Given the description of an element on the screen output the (x, y) to click on. 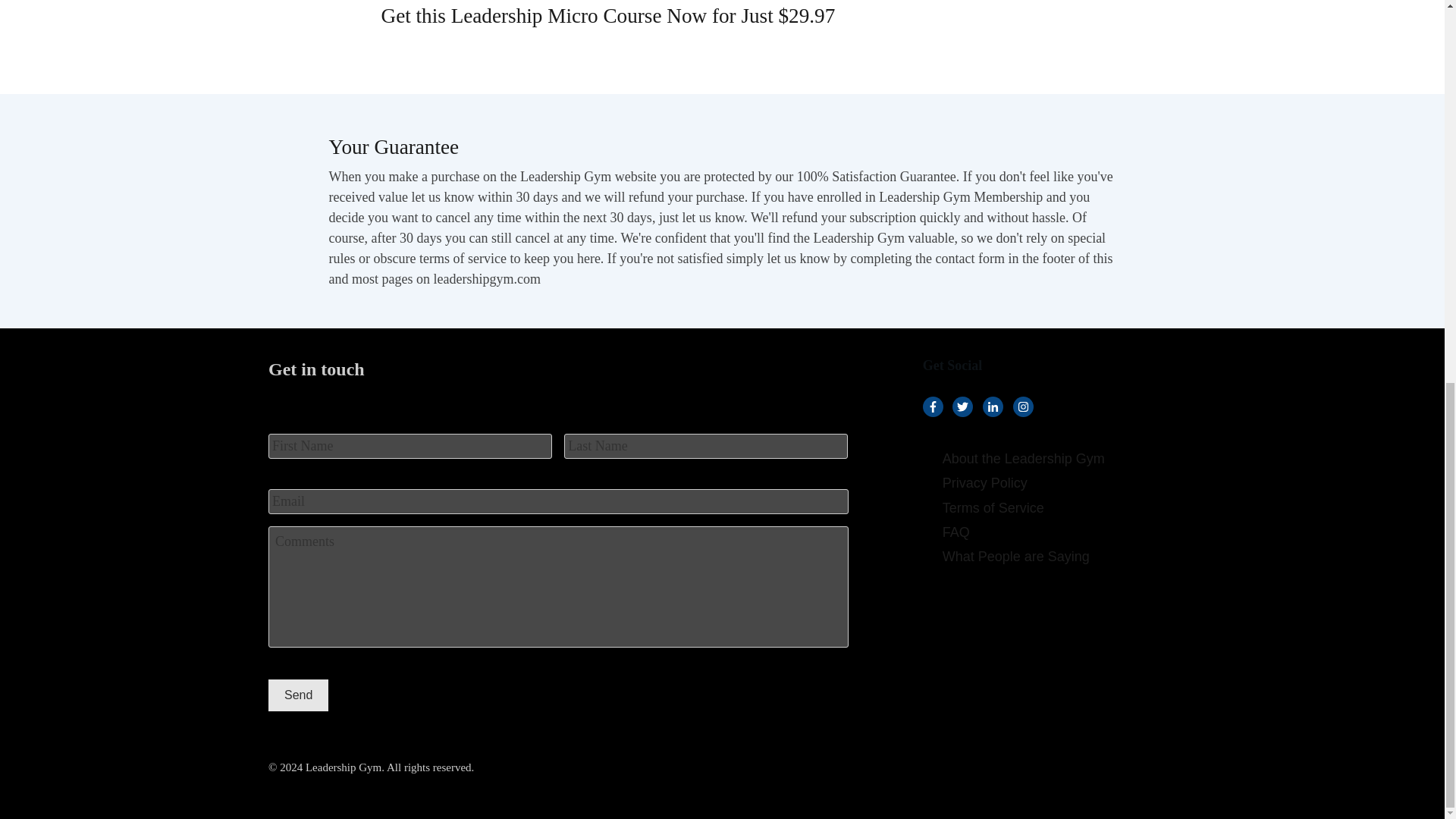
About the Leadership Gym (1023, 458)
Terms of Service (992, 507)
Send (298, 695)
Send (298, 695)
What People are Saying (1015, 556)
Privacy Policy (984, 482)
leadershipgym.com (486, 278)
FAQ (955, 531)
